Given the description of an element on the screen output the (x, y) to click on. 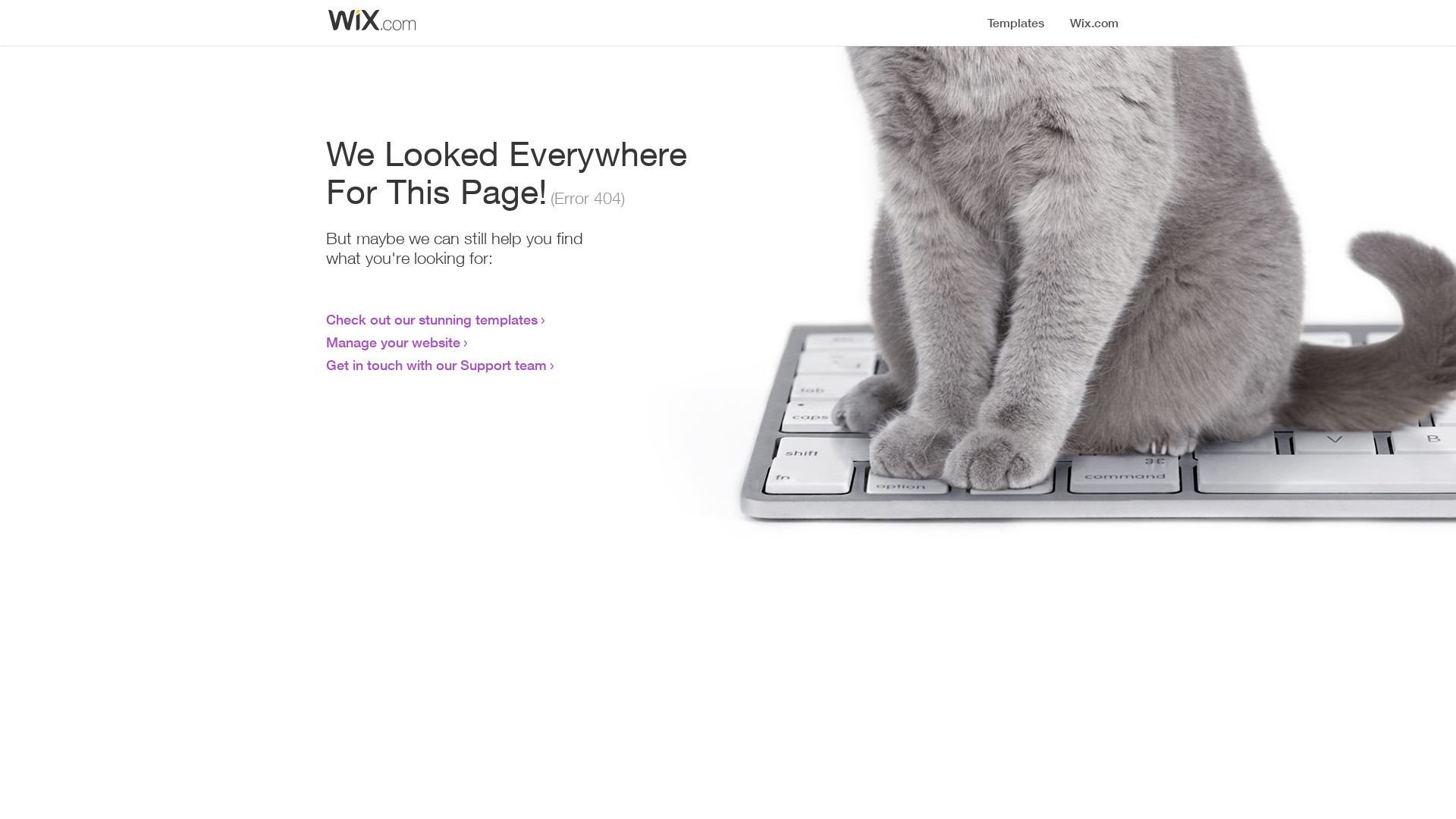
Manage your website Element type: text (393, 341)
Get in touch with our Support team Element type: text (436, 364)
Check out our stunning templates Element type: text (431, 318)
